Given the description of an element on the screen output the (x, y) to click on. 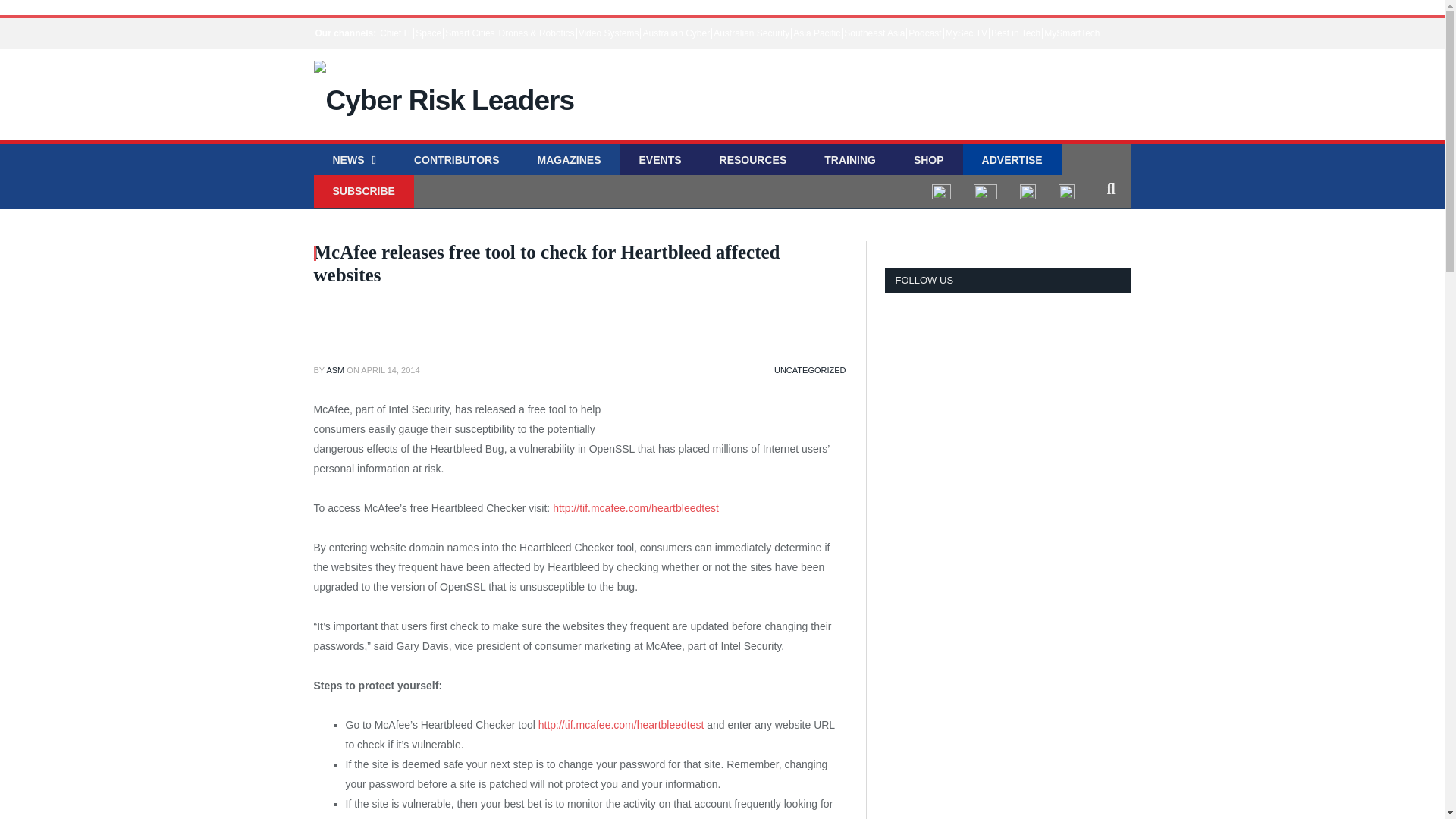
TRAINING (850, 161)
NEWS (354, 161)
EVENTS (660, 161)
Cyber Risk Leaders (433, 88)
Best in Tech (1015, 32)
SUBSCRIBE (363, 191)
Smart Cities (469, 32)
Video Systems (608, 32)
MAGAZINES (569, 161)
SHOP (928, 161)
